Given the description of an element on the screen output the (x, y) to click on. 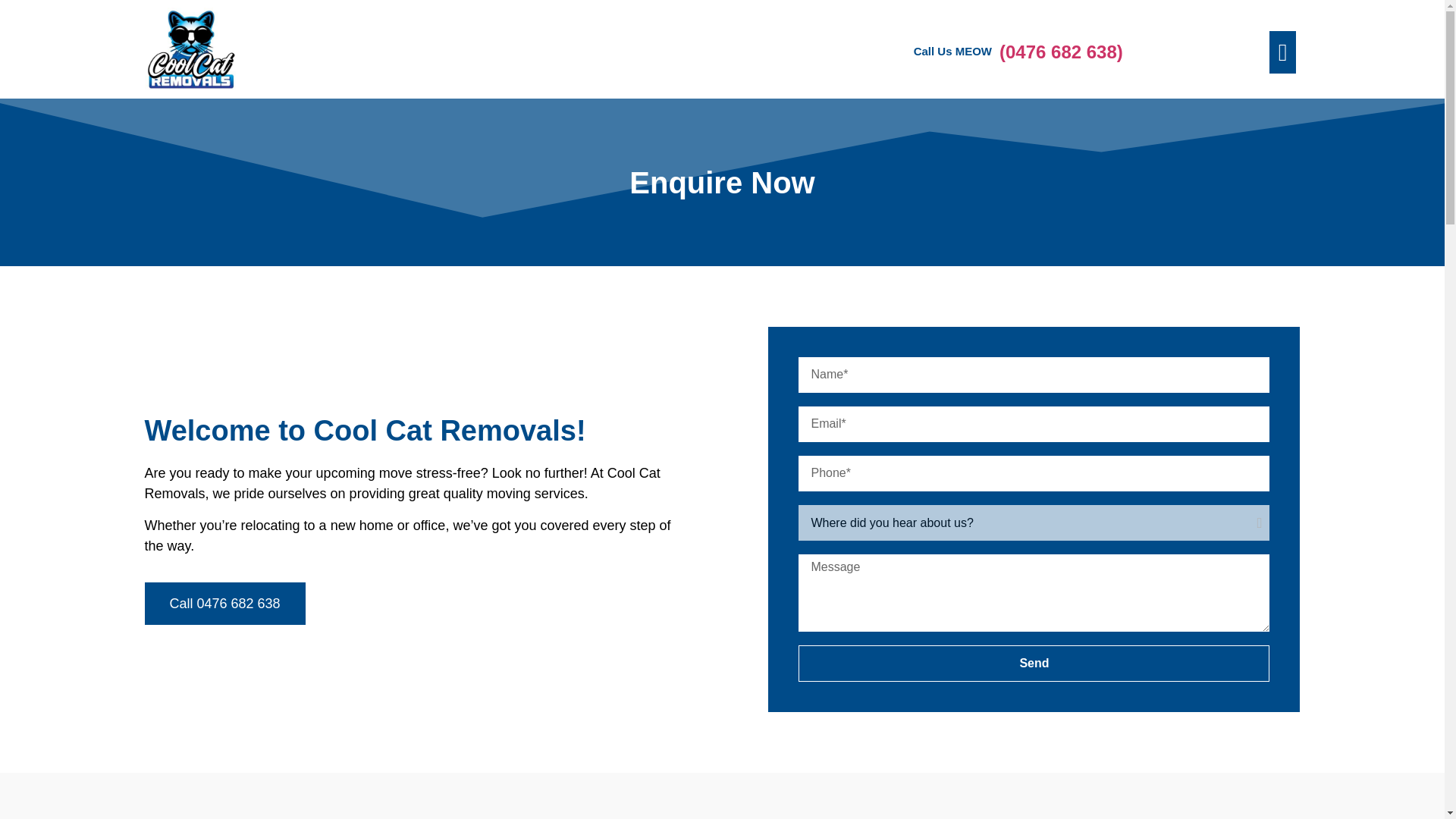
Call 0476 682 638 (224, 603)
Send (1033, 663)
